Given the description of an element on the screen output the (x, y) to click on. 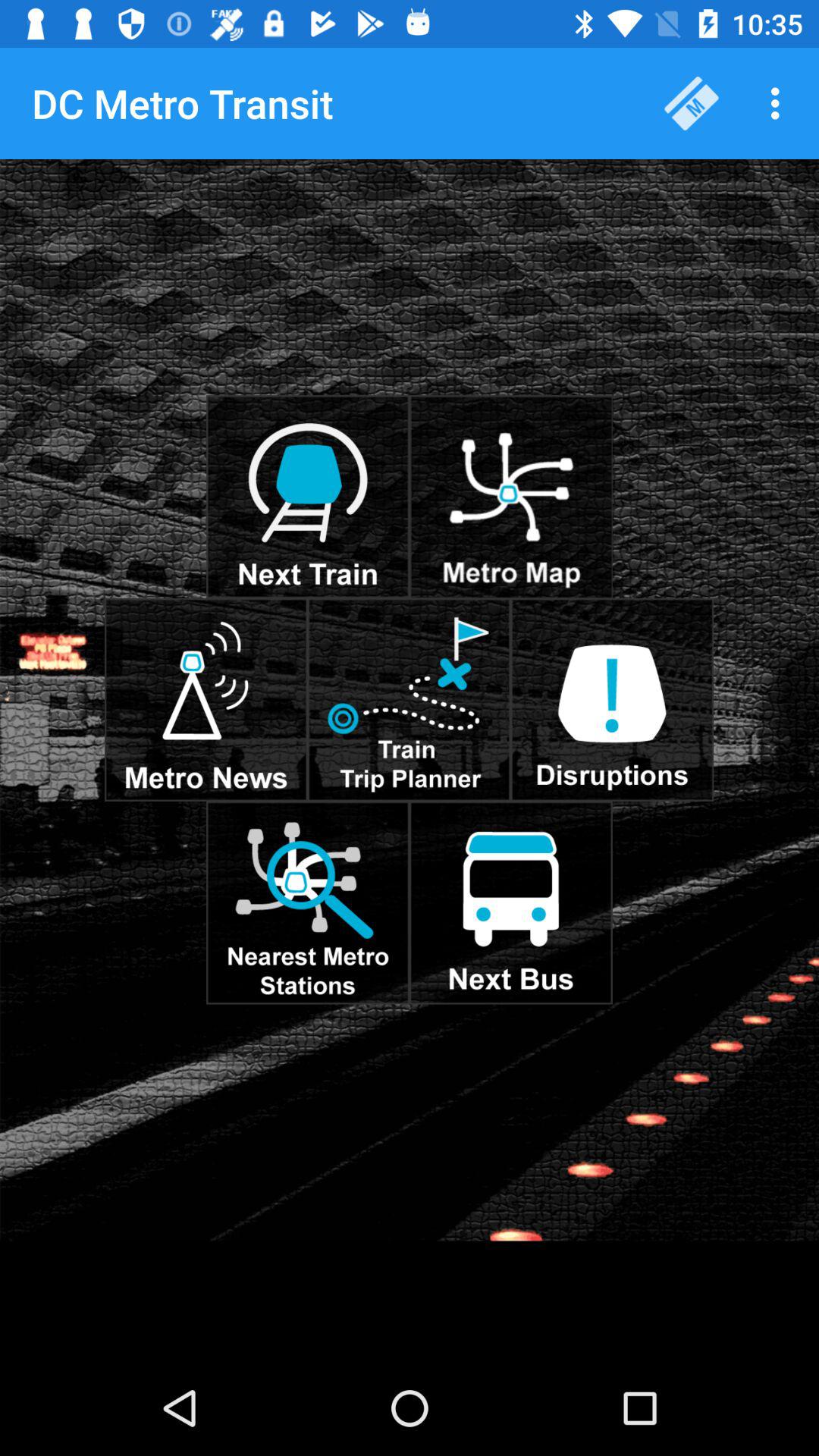
toggle autoplay option (510, 902)
